Given the description of an element on the screen output the (x, y) to click on. 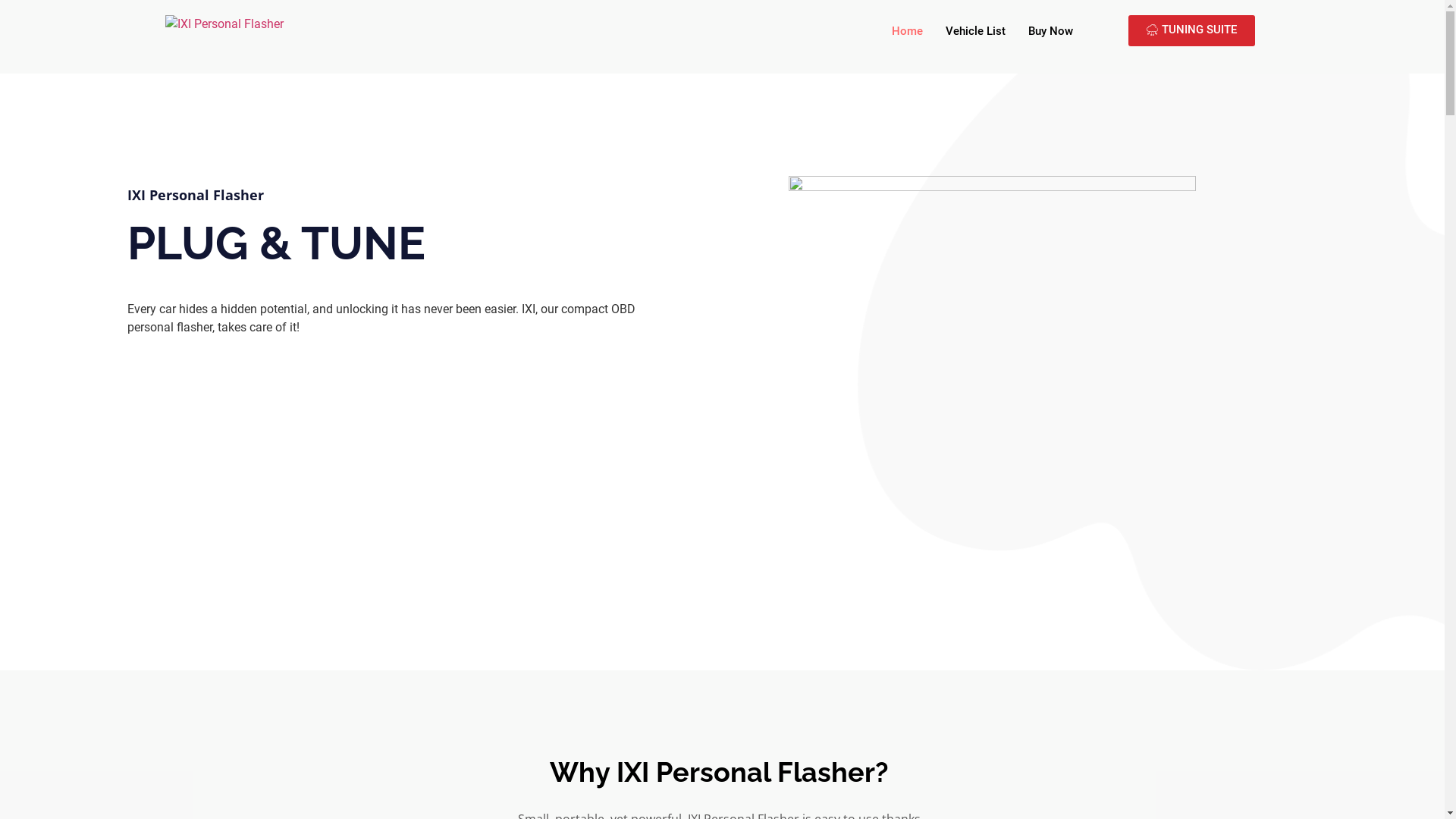
Vehicle List Element type: text (975, 31)
Home Element type: text (907, 31)
TUNING SUITE Element type: text (1191, 30)
Buy Now Element type: text (1050, 31)
